Given the description of an element on the screen output the (x, y) to click on. 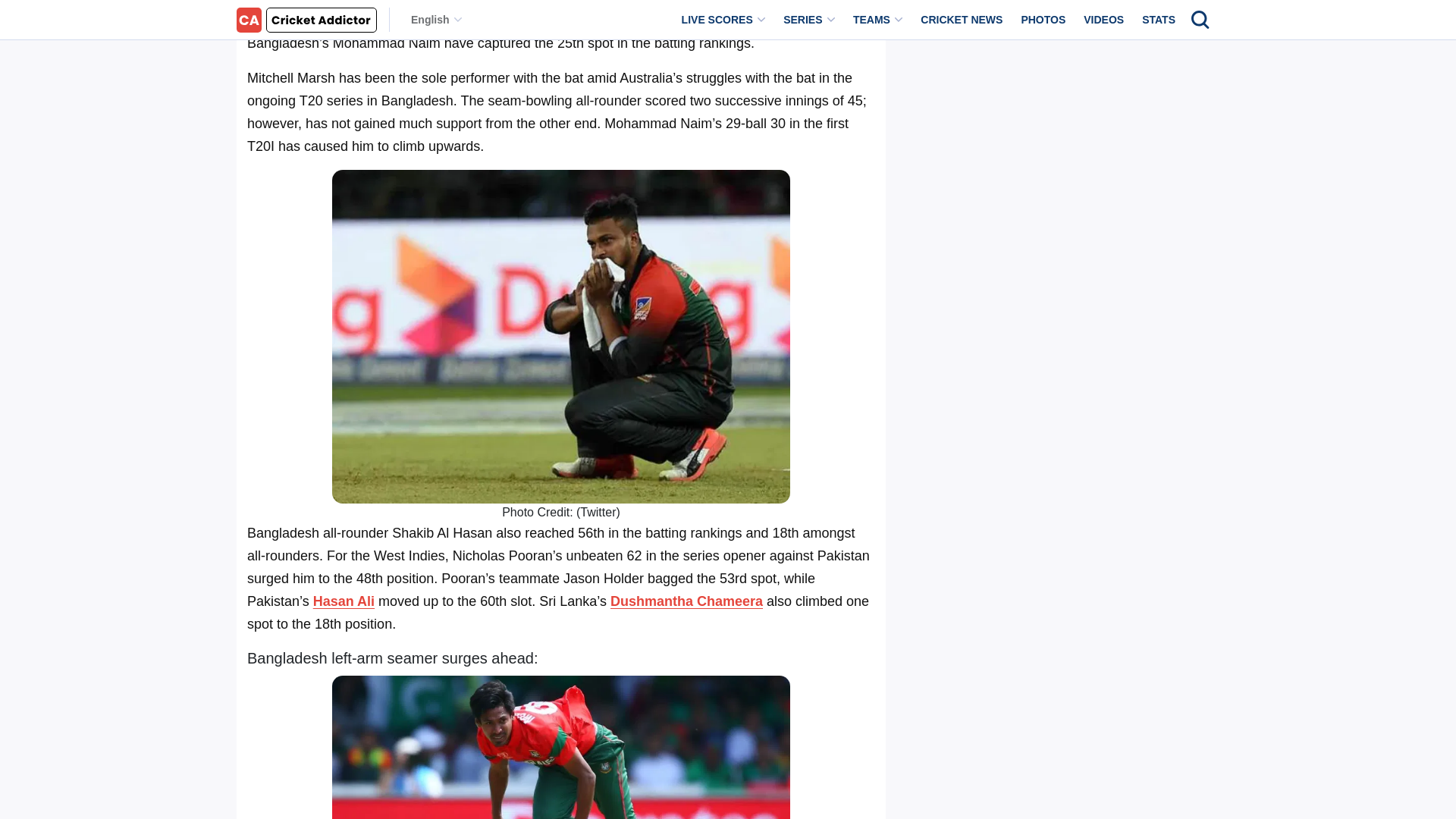
Hasan Ali (343, 601)
Dushmantha Chameera (686, 601)
